Given the description of an element on the screen output the (x, y) to click on. 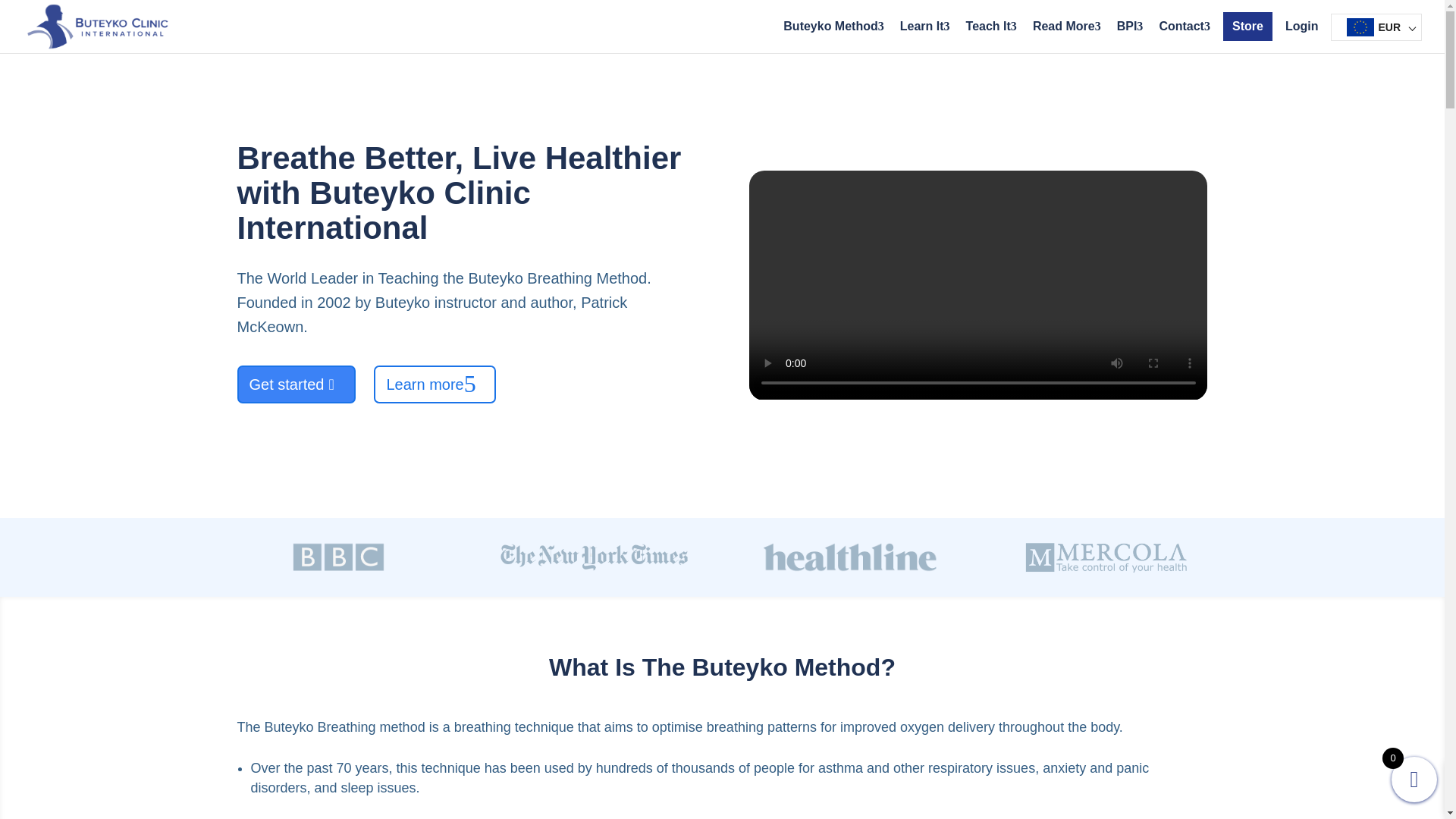
Read More (1063, 26)
Teach It (988, 26)
new-york-time-logo (593, 557)
BPI (1127, 26)
marcola-min-1536x287 (1106, 557)
Buteyko Method (830, 26)
Learn It (922, 26)
bbc-logo-min (338, 557)
healthline-logo.pnp-min (849, 557)
